Given the description of an element on the screen output the (x, y) to click on. 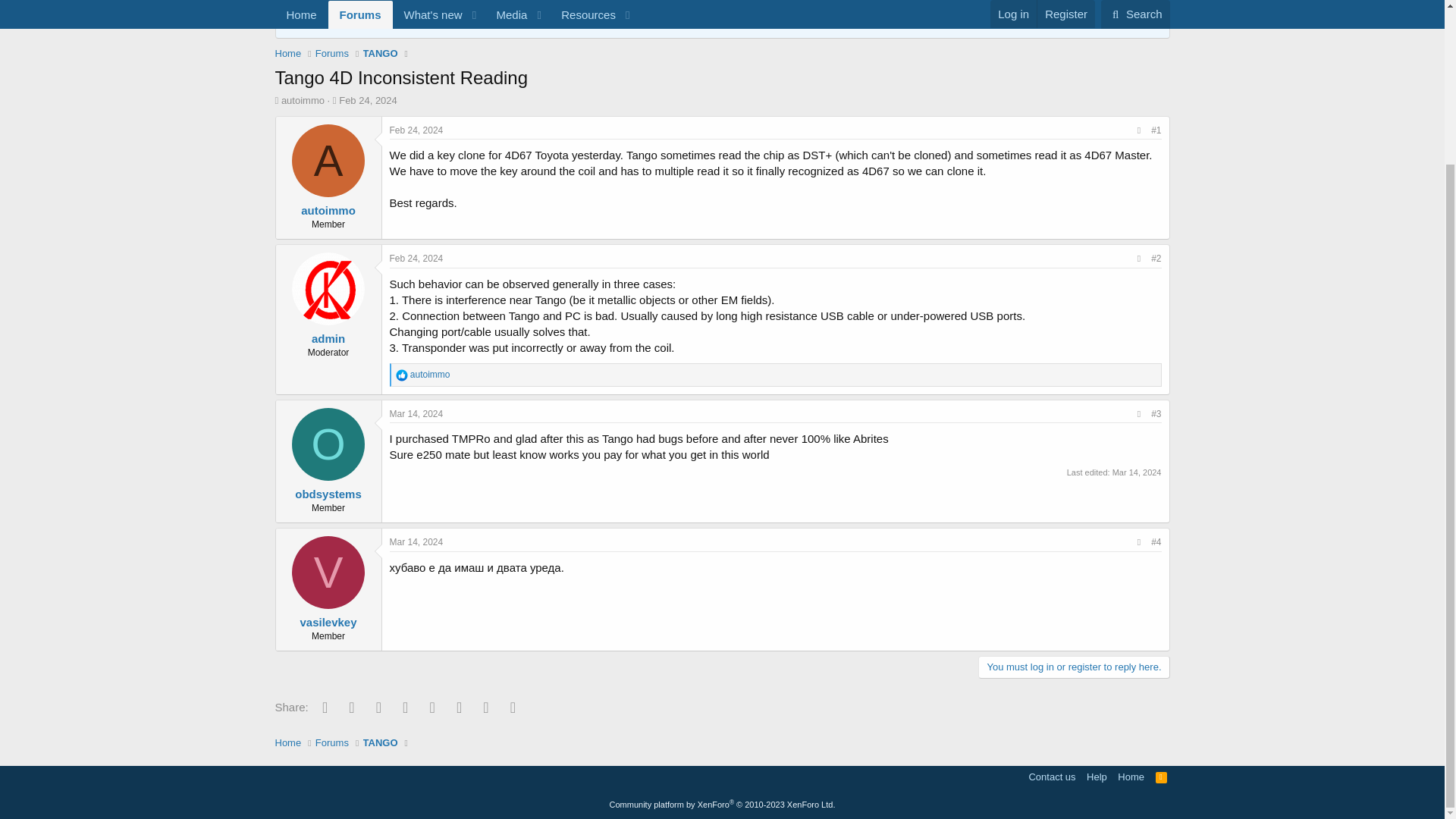
Feb 24, 2024 at 9:22 AM (417, 258)
Like (401, 375)
Feb 24, 2024 at 2:38 AM (368, 100)
Mar 14, 2024 at 5:05 AM (1136, 471)
Mar 14, 2024 at 7:16 AM (417, 542)
Feb 24, 2024 at 2:38 AM (417, 130)
RSS (1161, 776)
Mar 14, 2024 at 4:58 AM (417, 413)
